Given the description of an element on the screen output the (x, y) to click on. 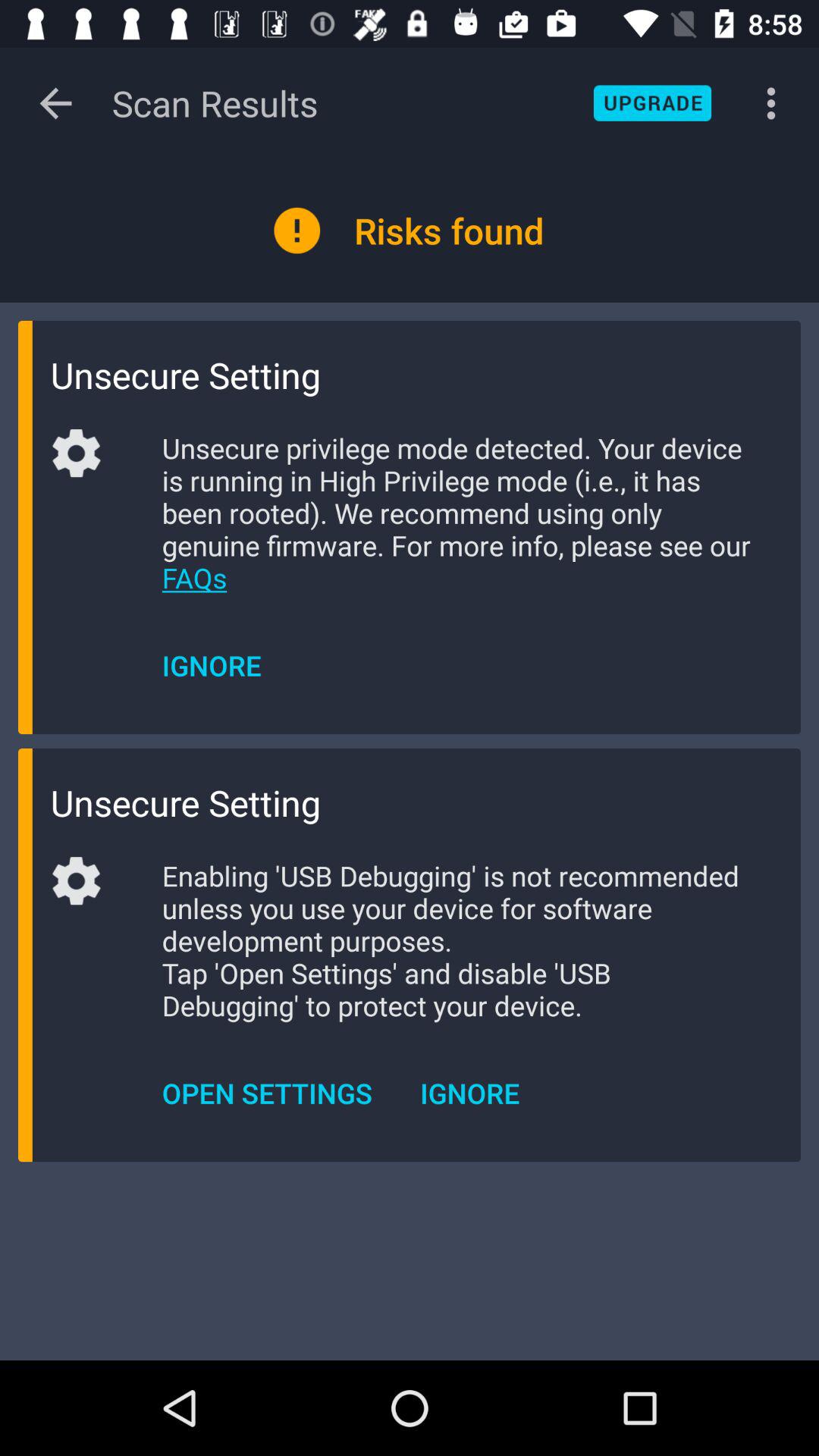
click on the blue button which is on the top right side of the page (652, 103)
click the button on the top right corner of the web page (771, 103)
click the image left to risks found (297, 230)
